Given the description of an element on the screen output the (x, y) to click on. 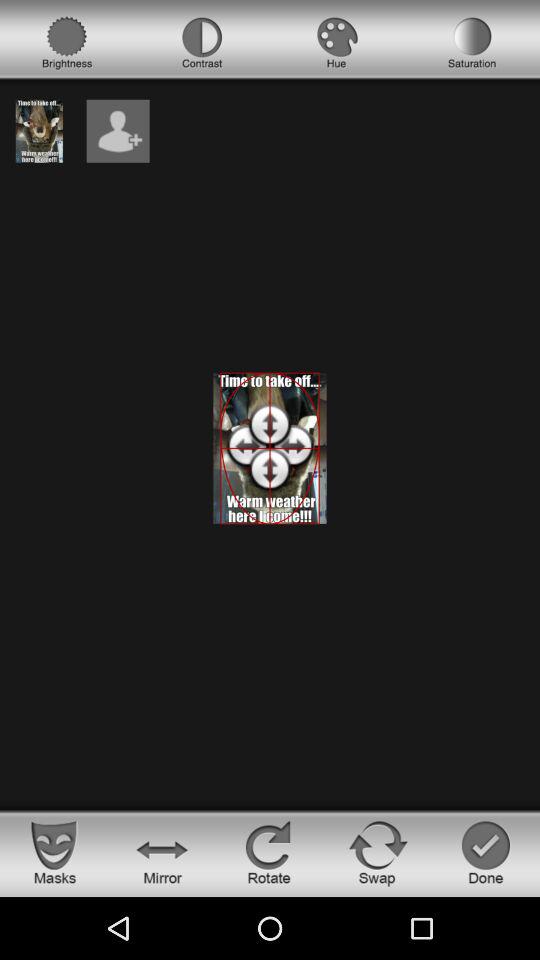
view masks (53, 852)
